Given the description of an element on the screen output the (x, y) to click on. 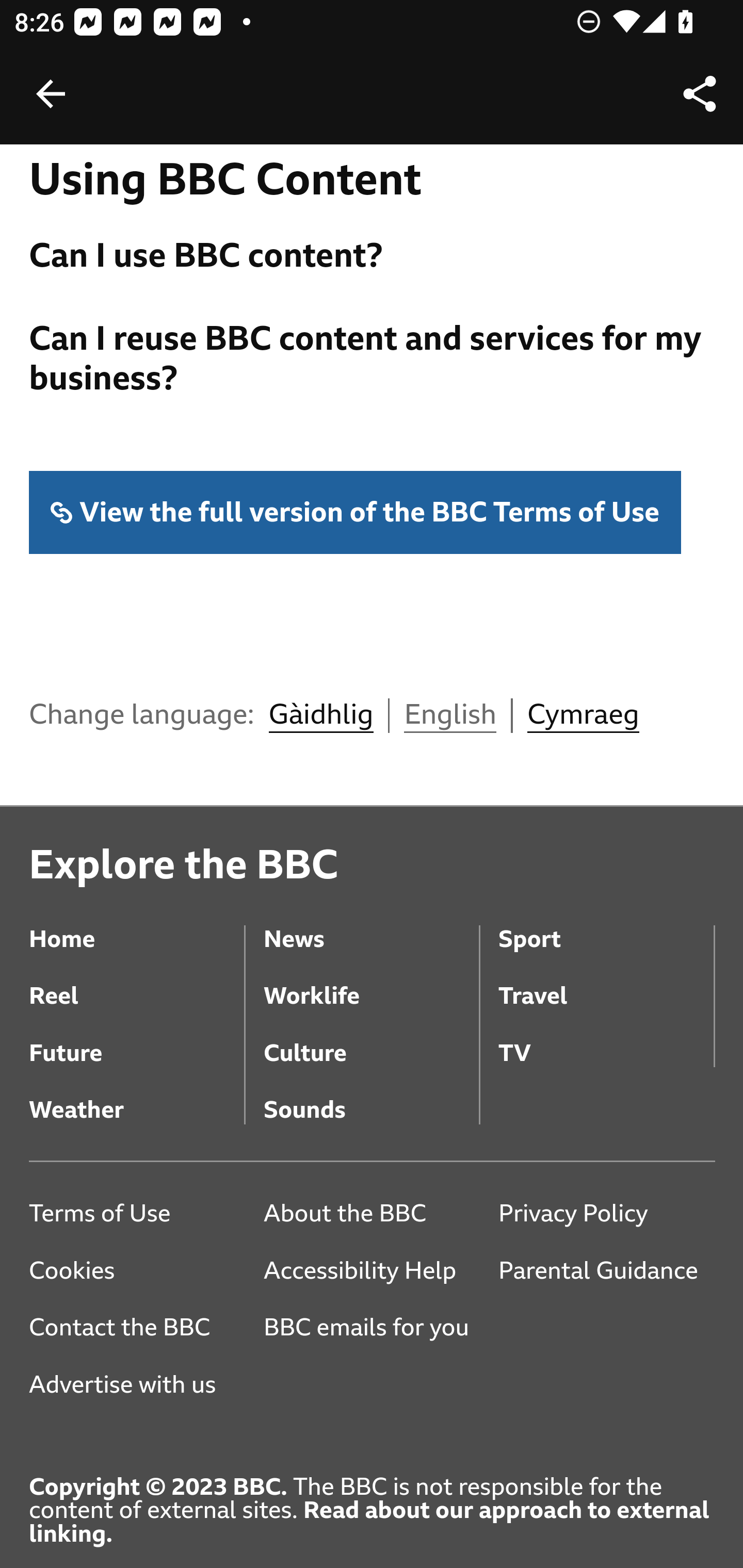
Back (50, 93)
Share (699, 93)
Can I use BBC content? (372, 256)
View the full version of the BBC Terms of Use (355, 513)
Gàidhlig (320, 715)
English (450, 715)
Cymraeg (582, 715)
Home (136, 924)
News (370, 924)
Sport (606, 924)
Reel (136, 982)
Worklife (370, 982)
Travel (606, 982)
Future (136, 1040)
Culture (370, 1040)
TV (606, 1040)
Weather (136, 1095)
Sounds (370, 1095)
Terms of Use (136, 1214)
About the BBC (370, 1214)
Privacy Policy (606, 1214)
Cookies (136, 1271)
Accessibility Help (370, 1271)
Parental Guidance (606, 1271)
Contact the BBC (136, 1329)
BBC emails for you (372, 1329)
Advertise with us (136, 1386)
Read about our approach to external linking. (368, 1522)
